Given the description of an element on the screen output the (x, y) to click on. 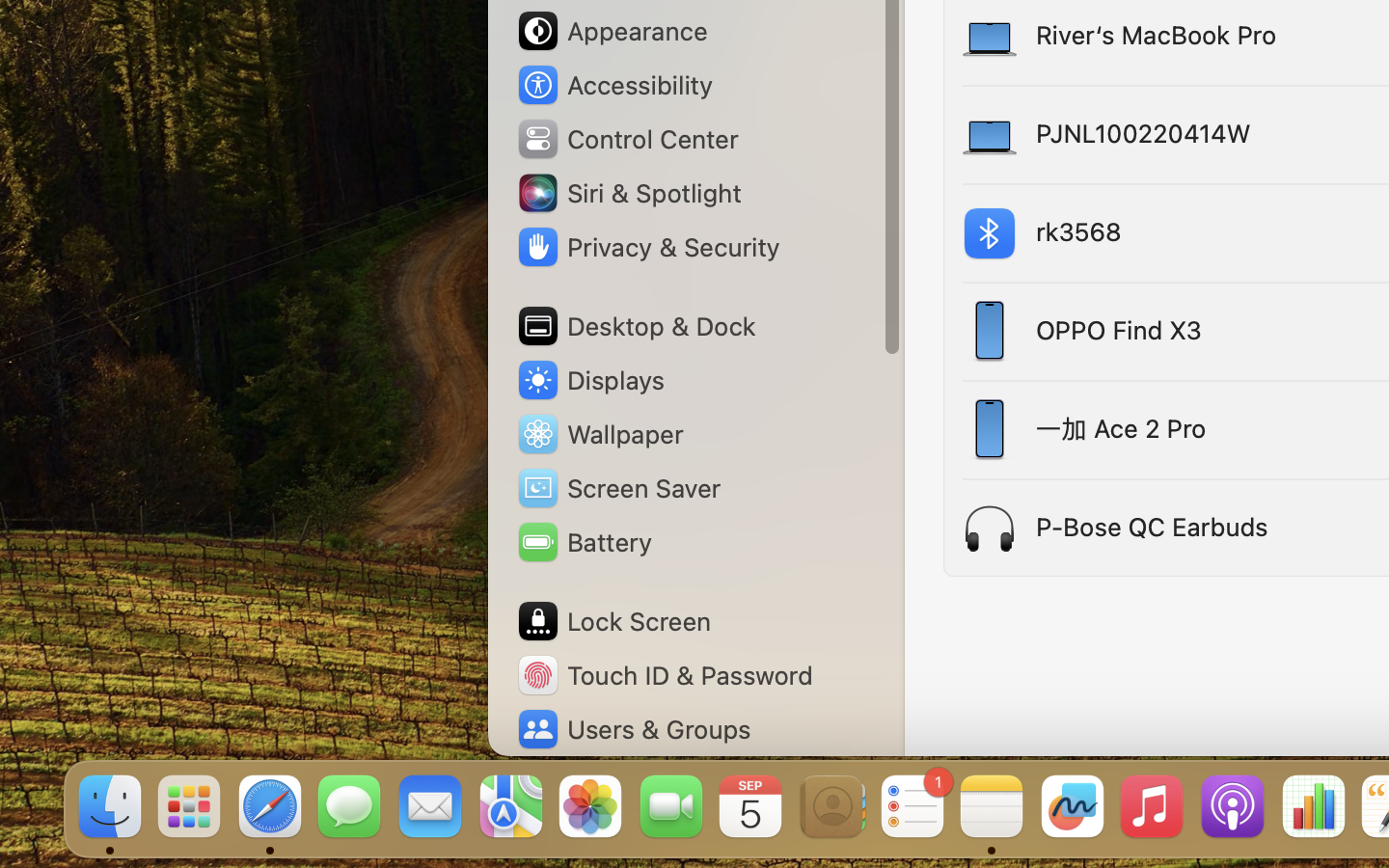
Displays Element type: AXStaticText (590, 379)
Appearance Element type: AXStaticText (611, 30)
Accessibility Element type: AXStaticText (614, 84)
